Given the description of an element on the screen output the (x, y) to click on. 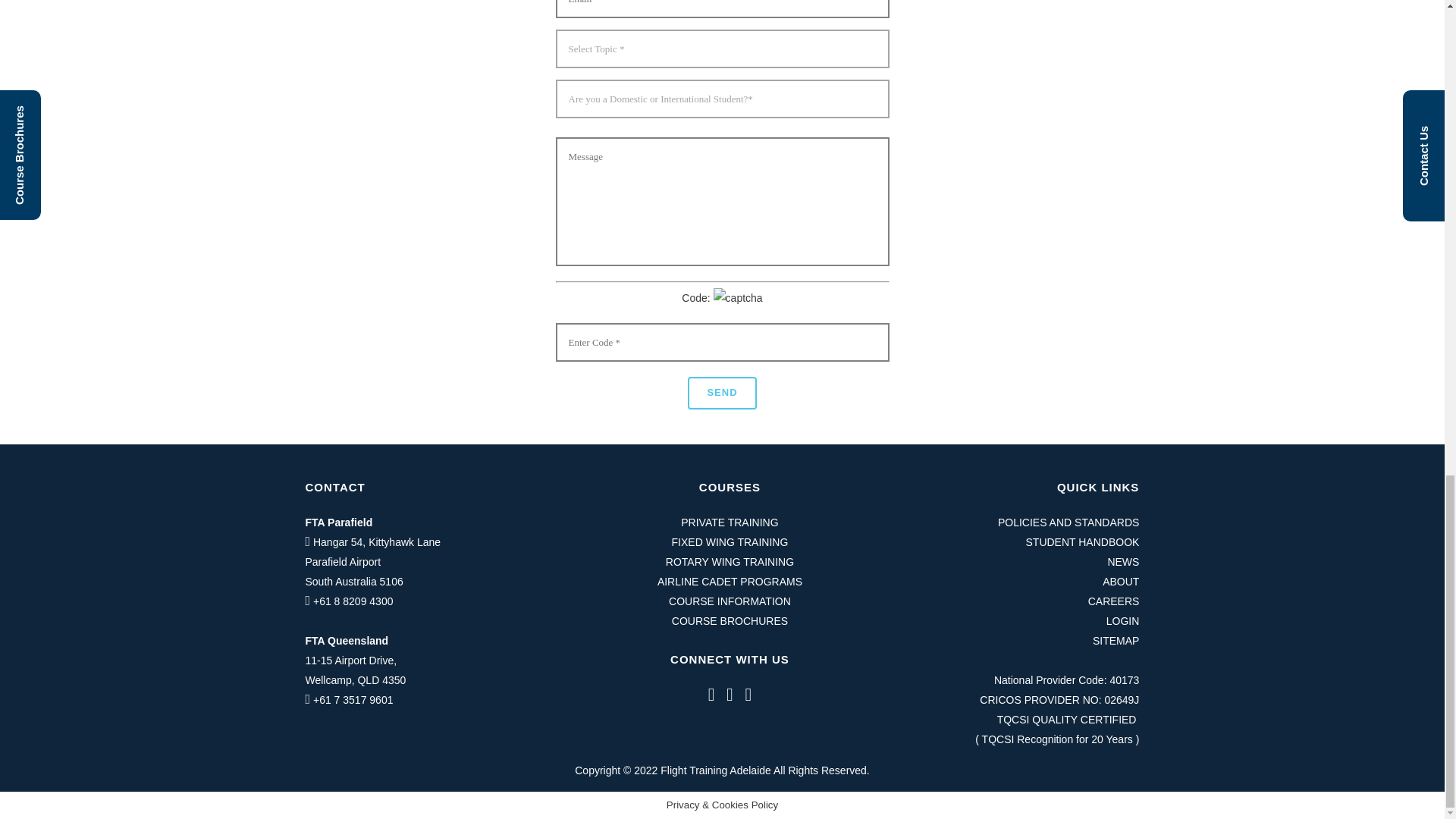
Send (721, 392)
Private Pilot License (729, 522)
Casa Pilot License (729, 621)
Course Information (729, 562)
Helicopter Pilot Training (730, 541)
Casa Pilot License (729, 601)
Casa Pilot License (730, 581)
